Given the description of an element on the screen output the (x, y) to click on. 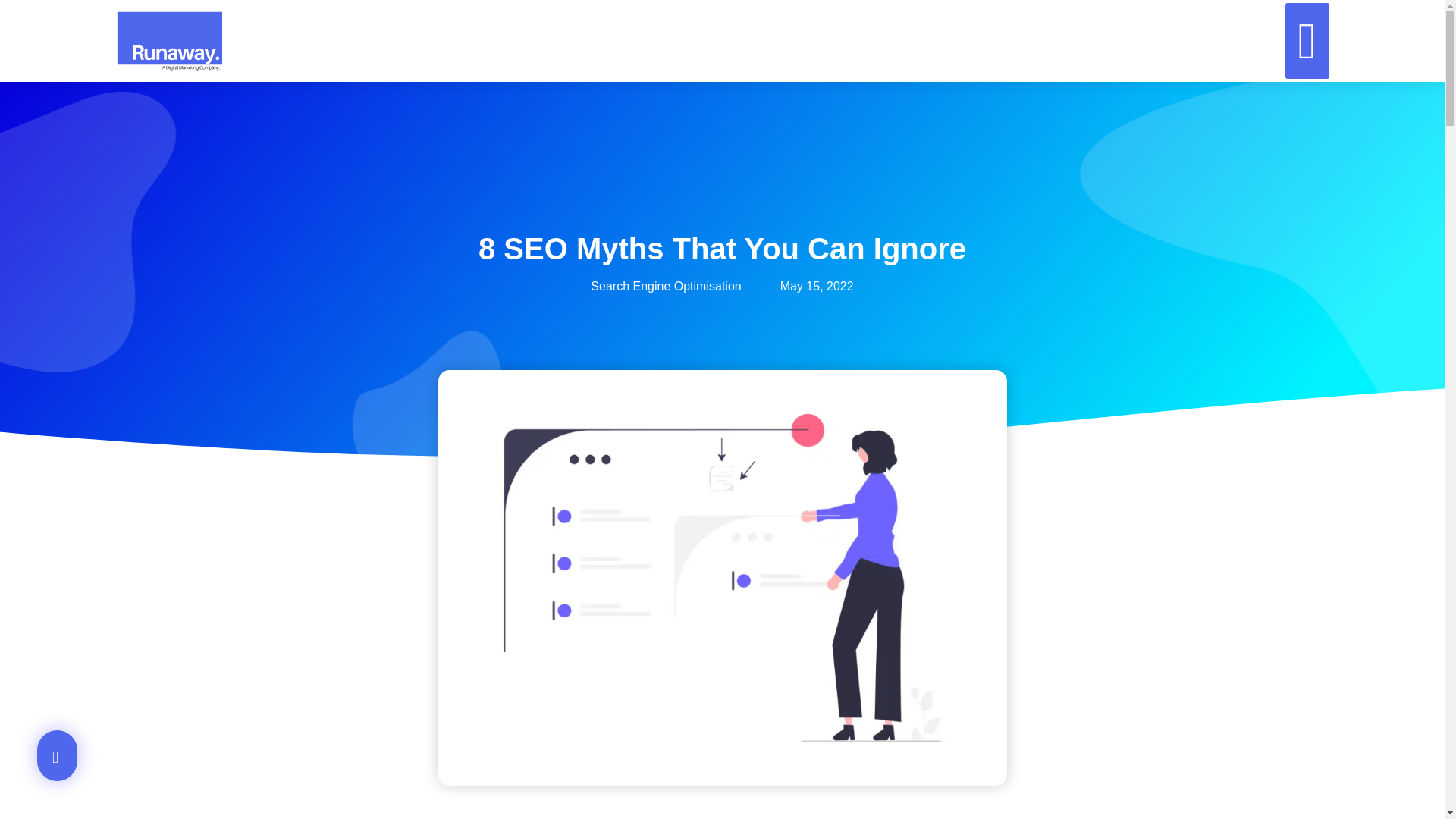
May 15, 2022 (816, 286)
Search Engine Optimisation (666, 286)
